Given the description of an element on the screen output the (x, y) to click on. 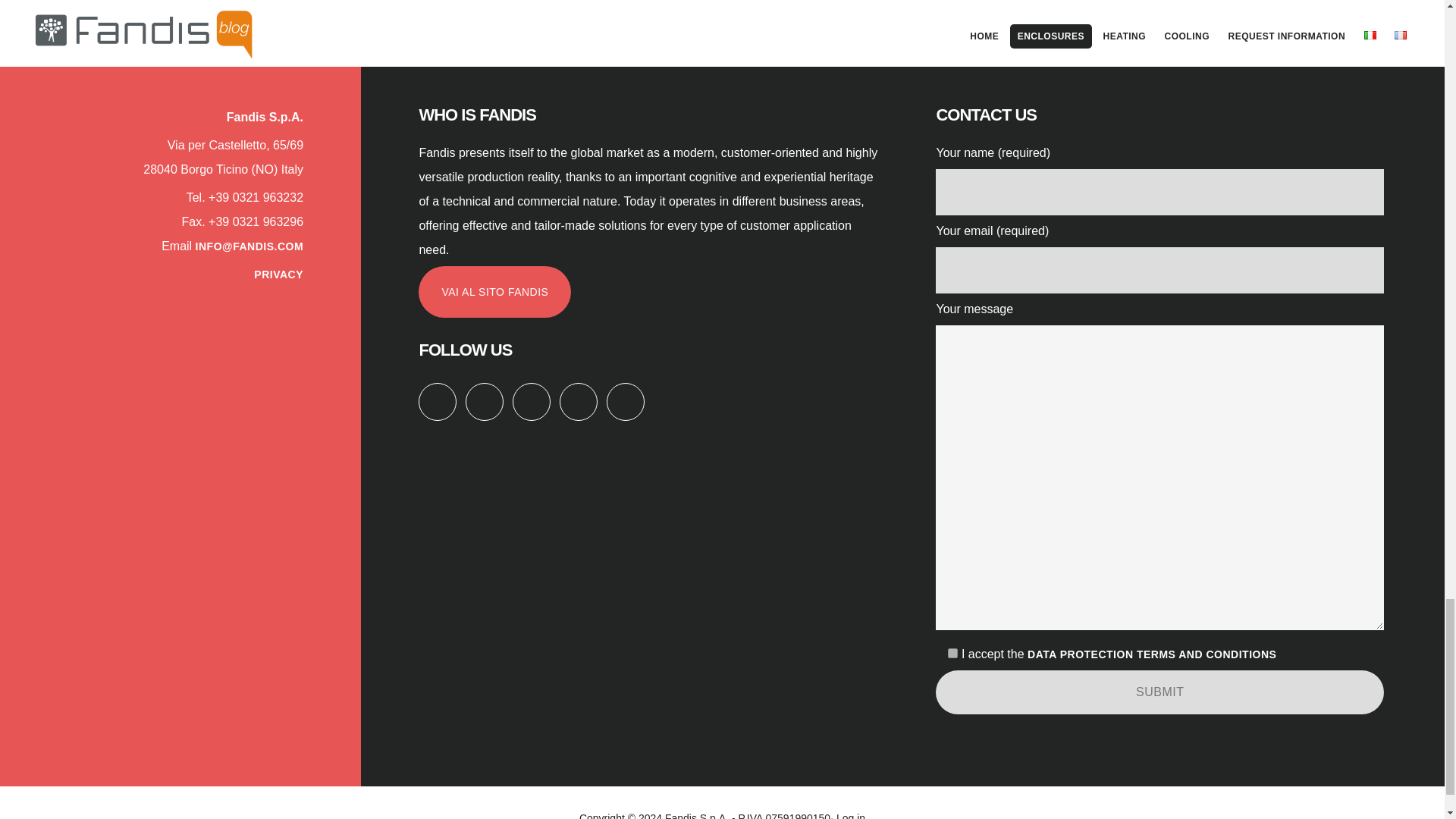
Submit (1160, 692)
Privacy policy (1151, 654)
Privacy (277, 274)
1 (952, 653)
PRIVACY (277, 274)
VAI AL SITO FANDIS (494, 291)
